Given the description of an element on the screen output the (x, y) to click on. 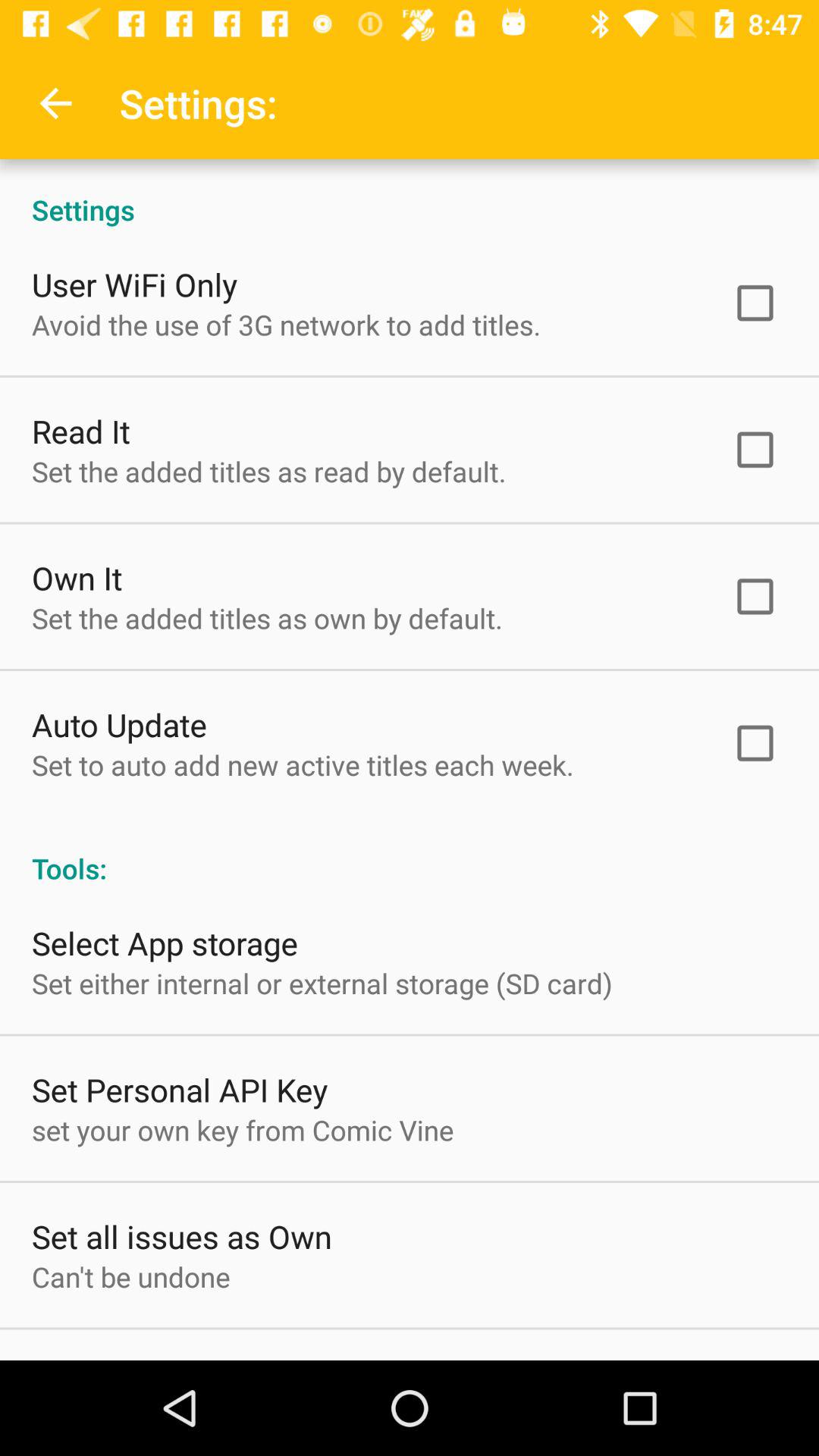
select the item above set the added icon (80, 430)
